Given the description of an element on the screen output the (x, y) to click on. 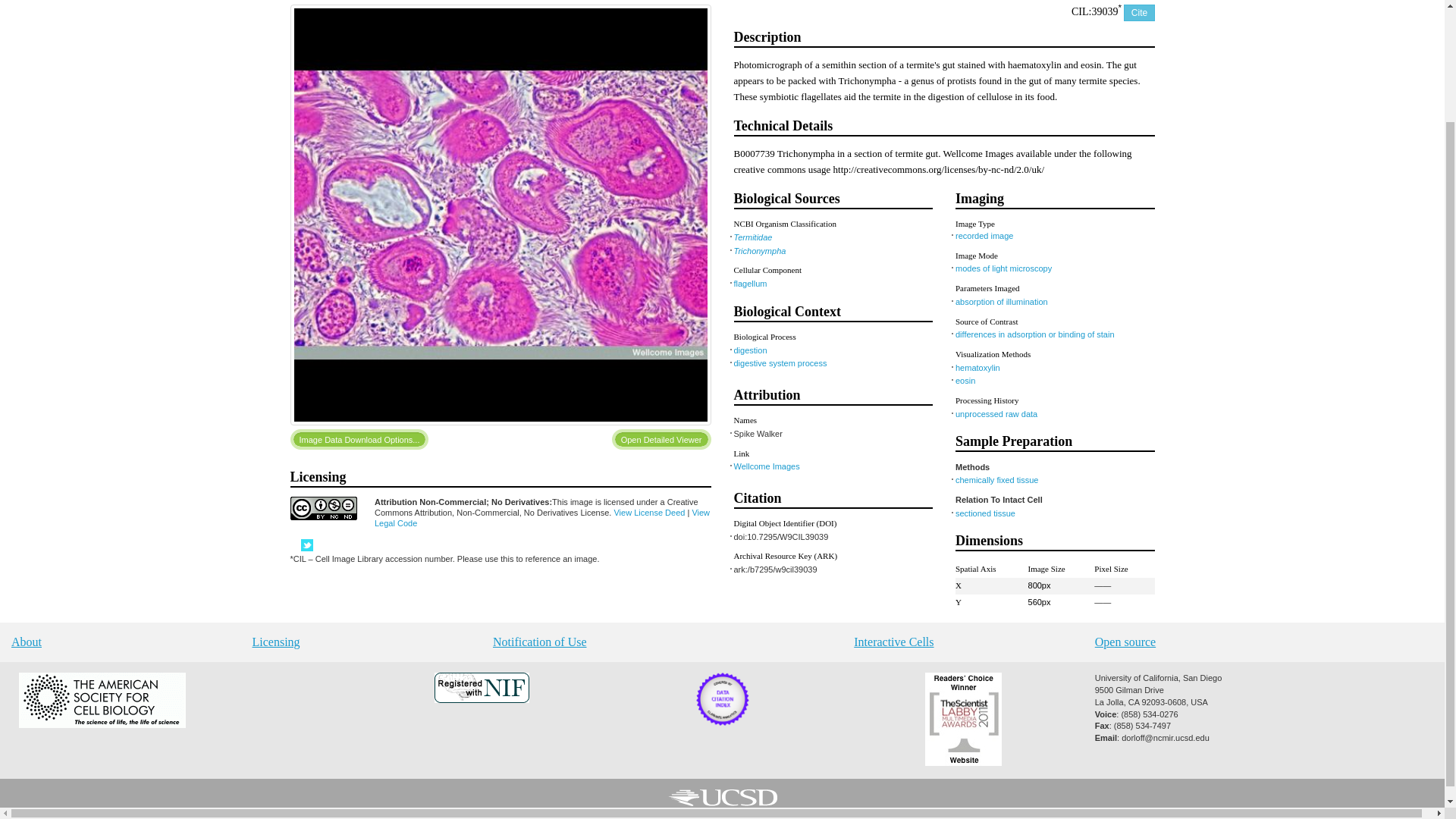
Data Citation Index (722, 722)
Wellcome Images (766, 465)
modes of light microscopy (1003, 267)
differences in adsorption or binding of stain (1035, 334)
Trichonympha (759, 250)
Image Data Download Options... (358, 439)
absorption of illumination (1001, 301)
digestion (750, 349)
 Cite  (1139, 12)
Termitidae (753, 236)
